Given the description of an element on the screen output the (x, y) to click on. 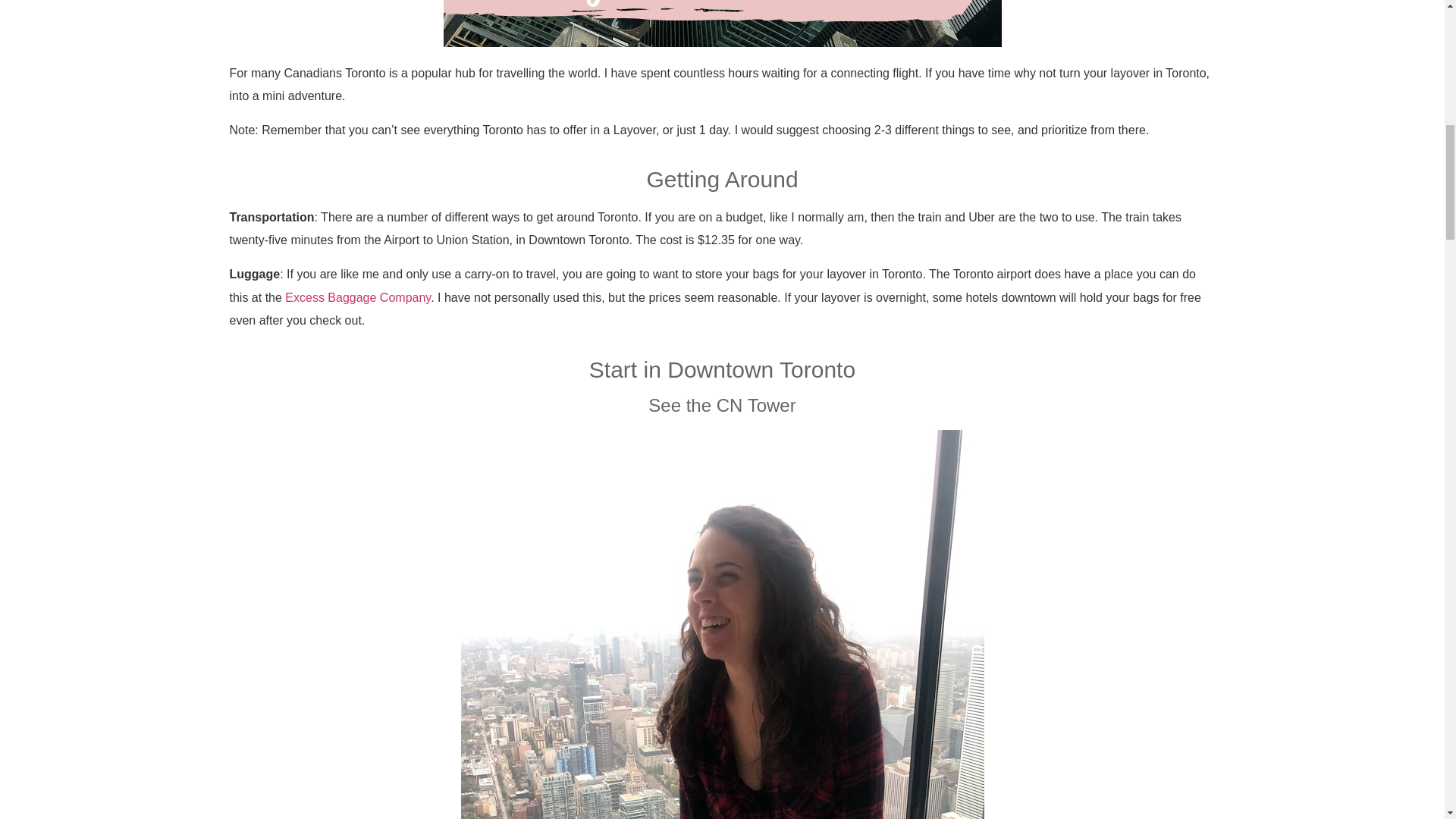
Excess Baggage Company (357, 297)
